Given the description of an element on the screen output the (x, y) to click on. 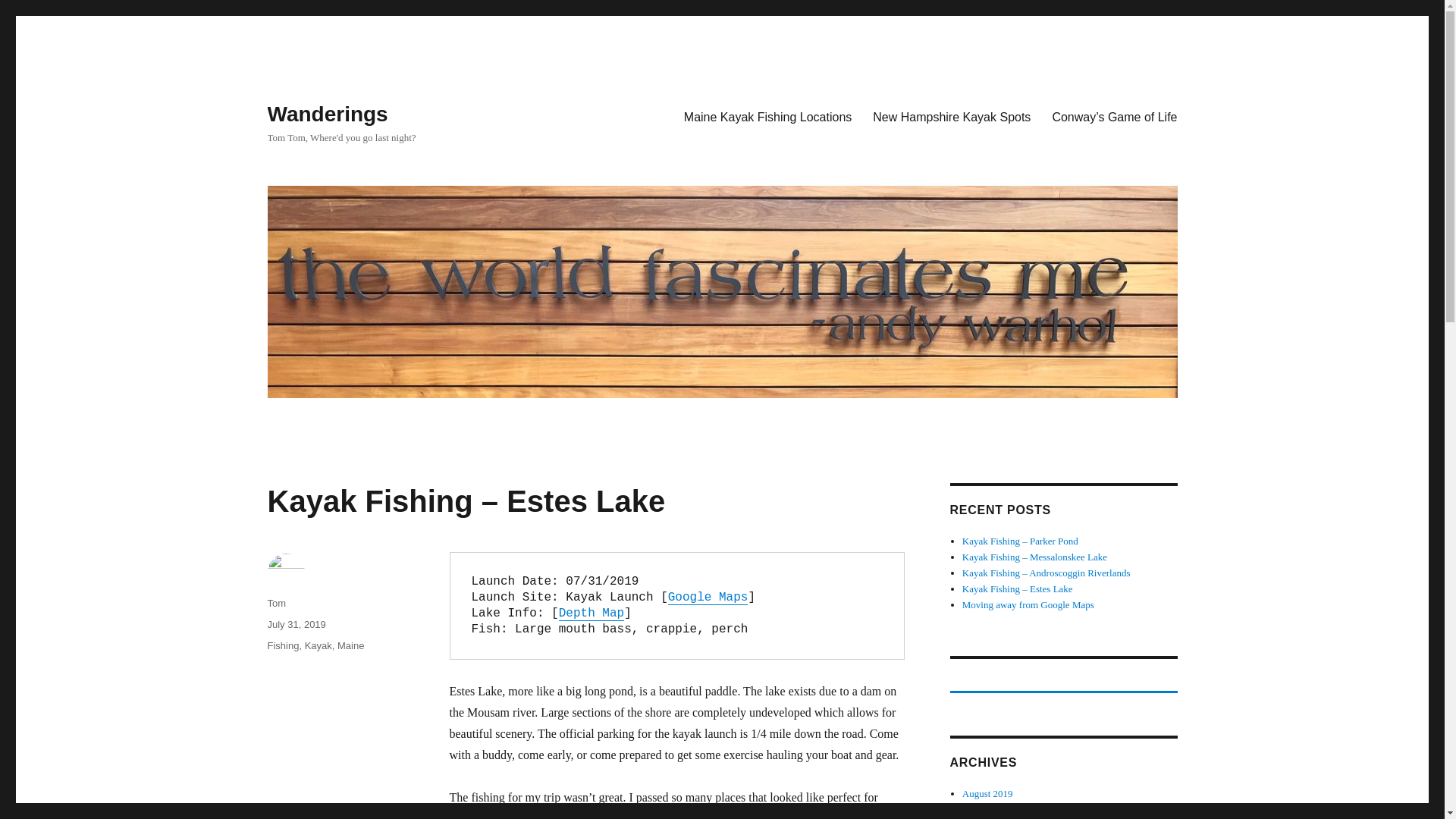
Tom (275, 603)
Kayak (317, 645)
Google Maps (708, 597)
Moving away from Google Maps (1028, 604)
Wanderings (326, 114)
Fishing (282, 645)
Maine Kayak Fishing Locations (766, 116)
July 2019 (981, 808)
New Hampshire Kayak Spots (951, 116)
July 31, 2019 (295, 624)
August 2019 (987, 793)
Maine (350, 645)
Depth Map (591, 612)
